Given the description of an element on the screen output the (x, y) to click on. 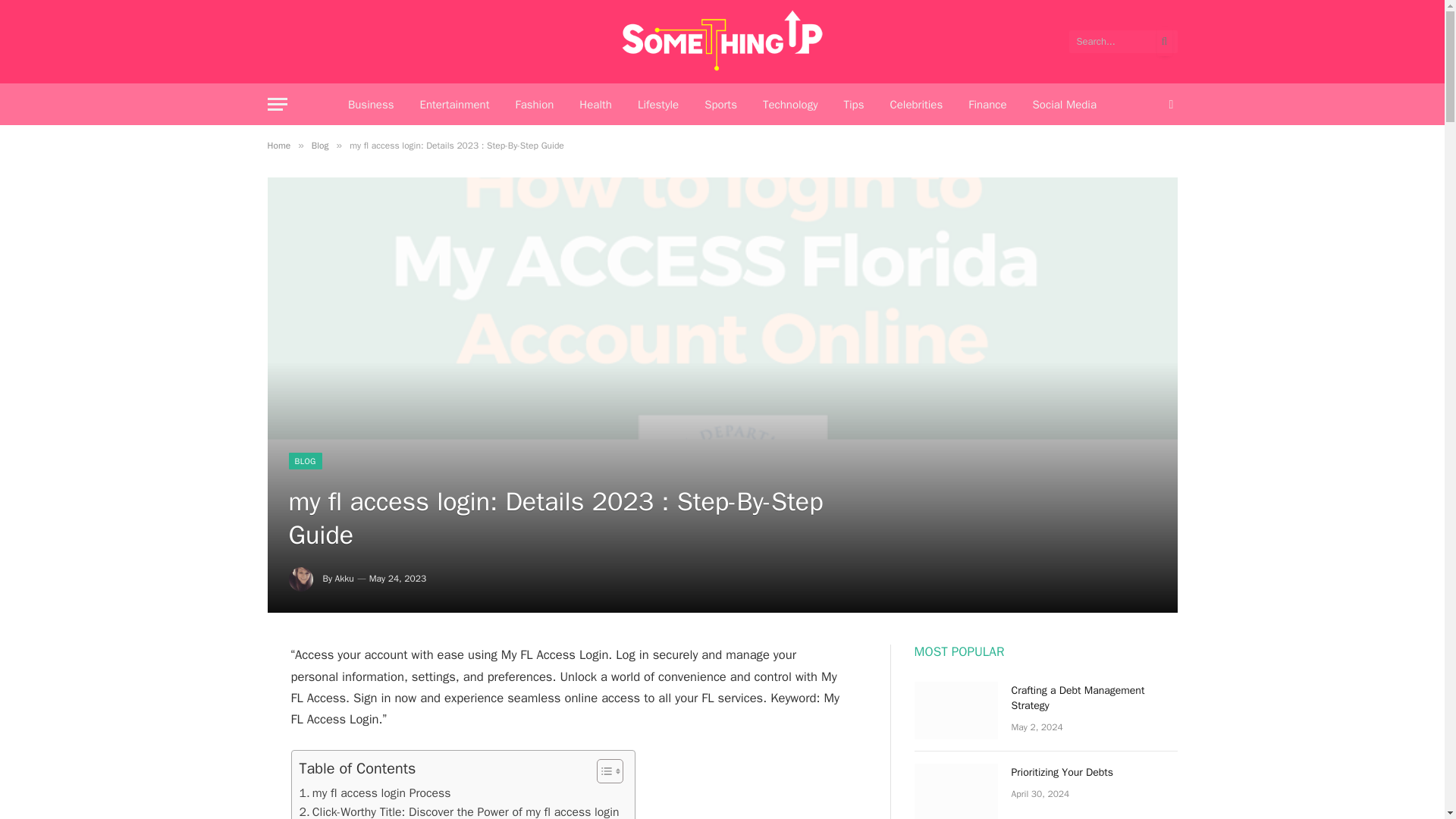
Switch to Dark Design - easier on eyes. (1168, 104)
Blog (320, 145)
Entertainment (454, 104)
Social Media (1064, 104)
Tips (852, 104)
Sports (720, 104)
Finance (987, 104)
Posts by Akku (343, 578)
Health (595, 104)
Business (370, 104)
